Given the description of an element on the screen output the (x, y) to click on. 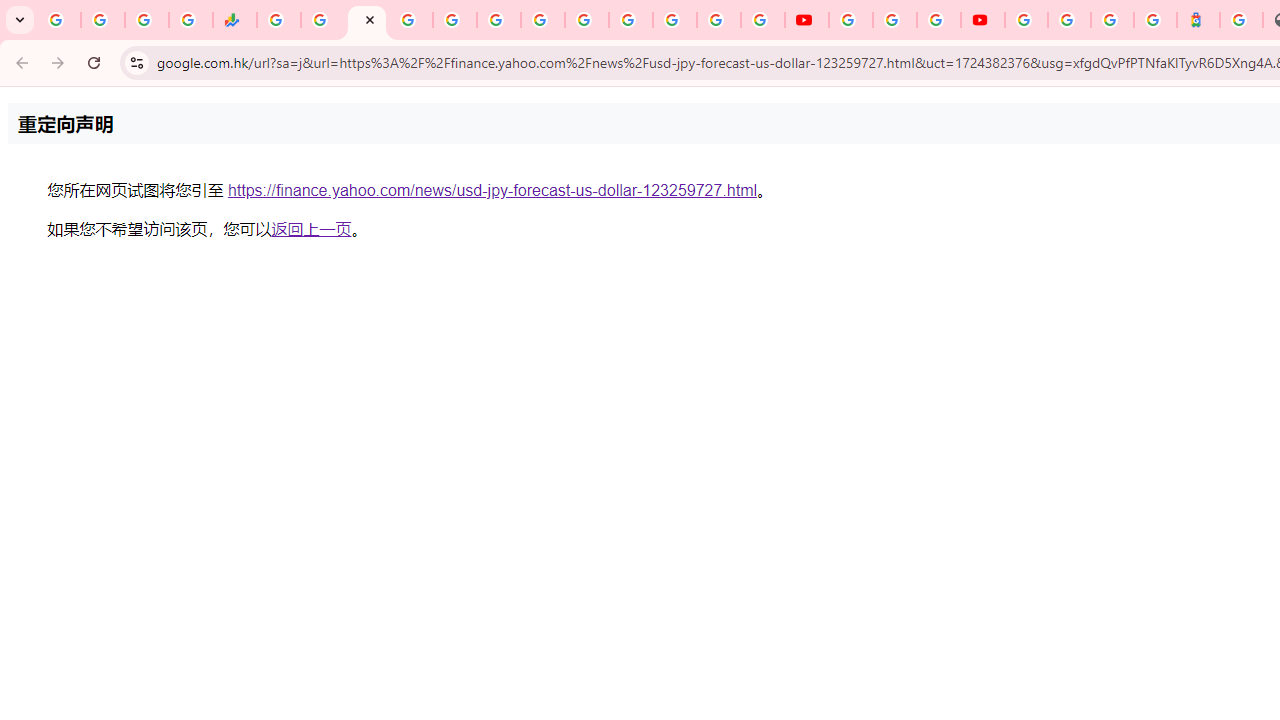
Atour Hotel - Google hotels (1197, 20)
YouTube (586, 20)
Sign in - Google Accounts (630, 20)
